Given the description of an element on the screen output the (x, y) to click on. 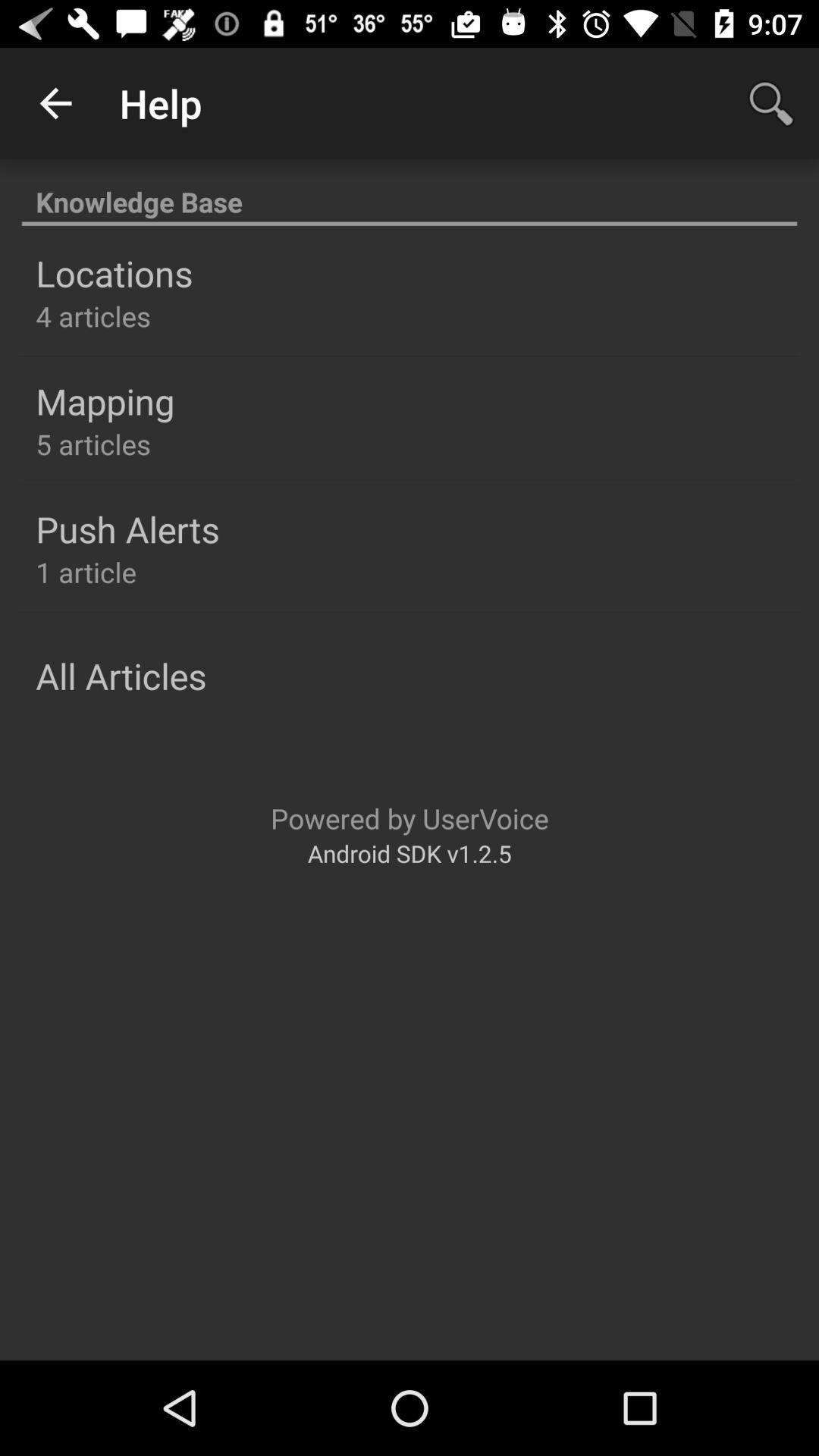
press the app to the left of help (55, 103)
